Given the description of an element on the screen output the (x, y) to click on. 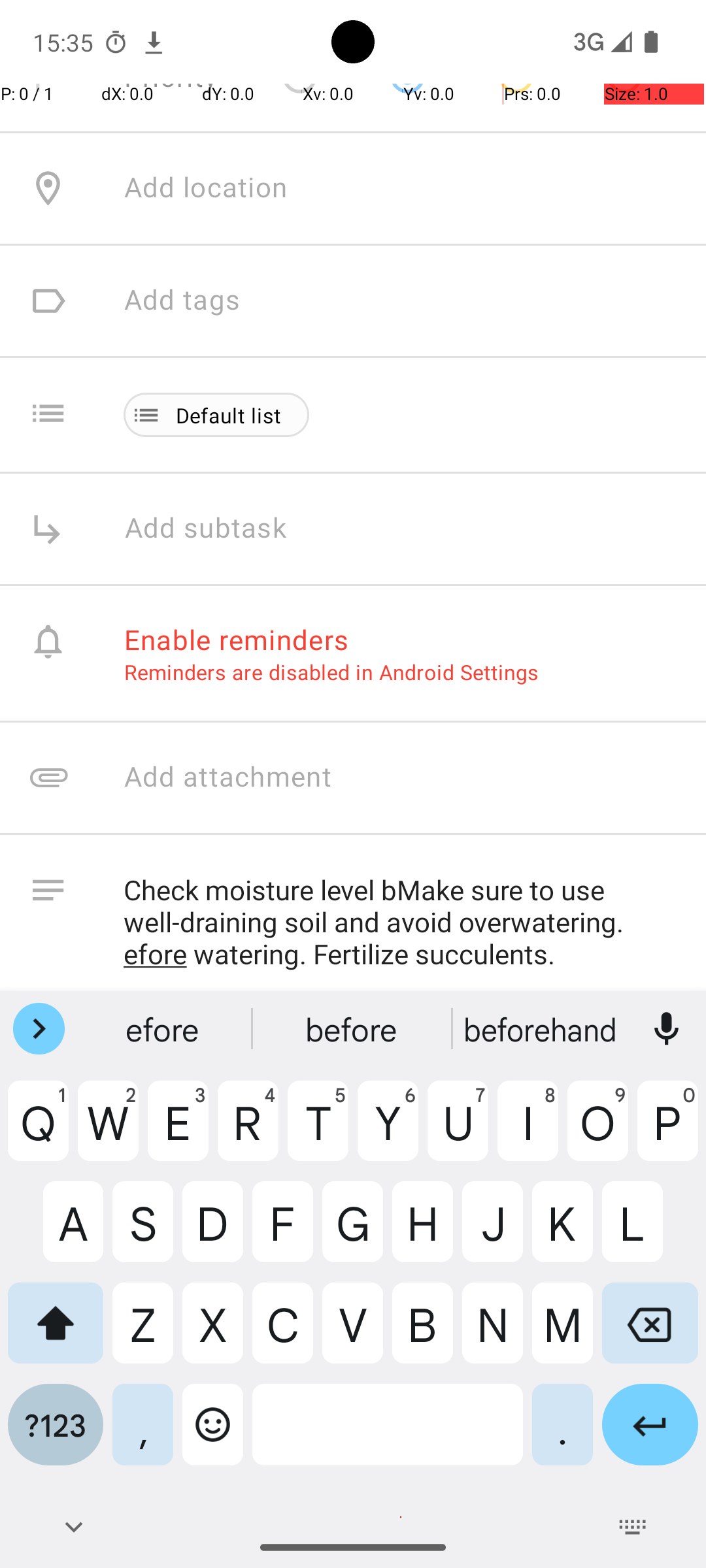
Check moisture level bMake sure to use well-draining soil and avoid overwatering.
efore watering. Fertilize succulents. Element type: android.widget.EditText (400, 922)
efore Element type: android.widget.FrameLayout (163, 1028)
before Element type: android.widget.FrameLayout (352, 1028)
beforehand Element type: android.widget.FrameLayout (541, 1028)
